Given the description of an element on the screen output the (x, y) to click on. 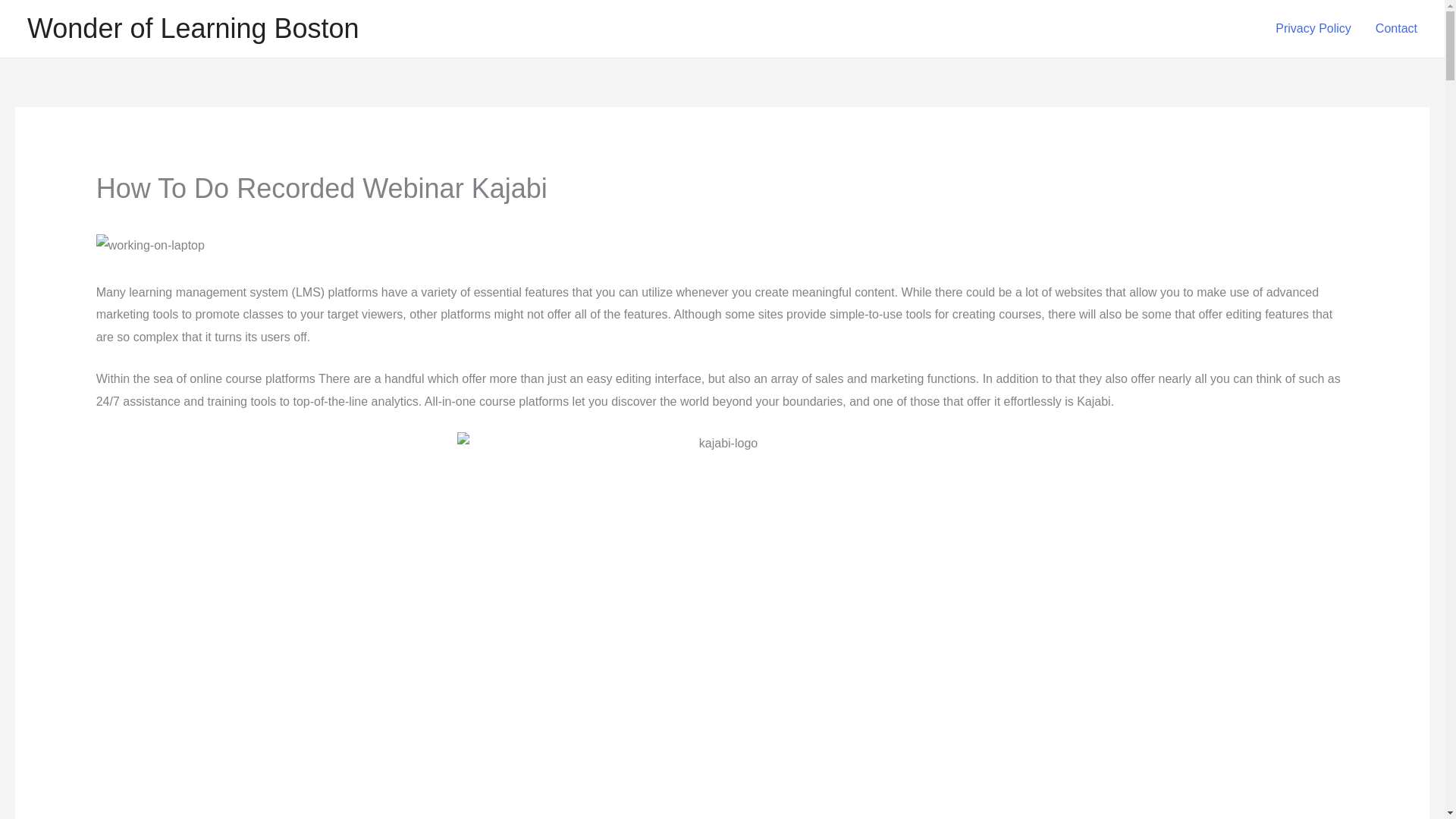
YouTube video player (308, 775)
Wonder of Learning Boston (193, 28)
Privacy Policy (1312, 28)
Contact (1395, 28)
